Given the description of an element on the screen output the (x, y) to click on. 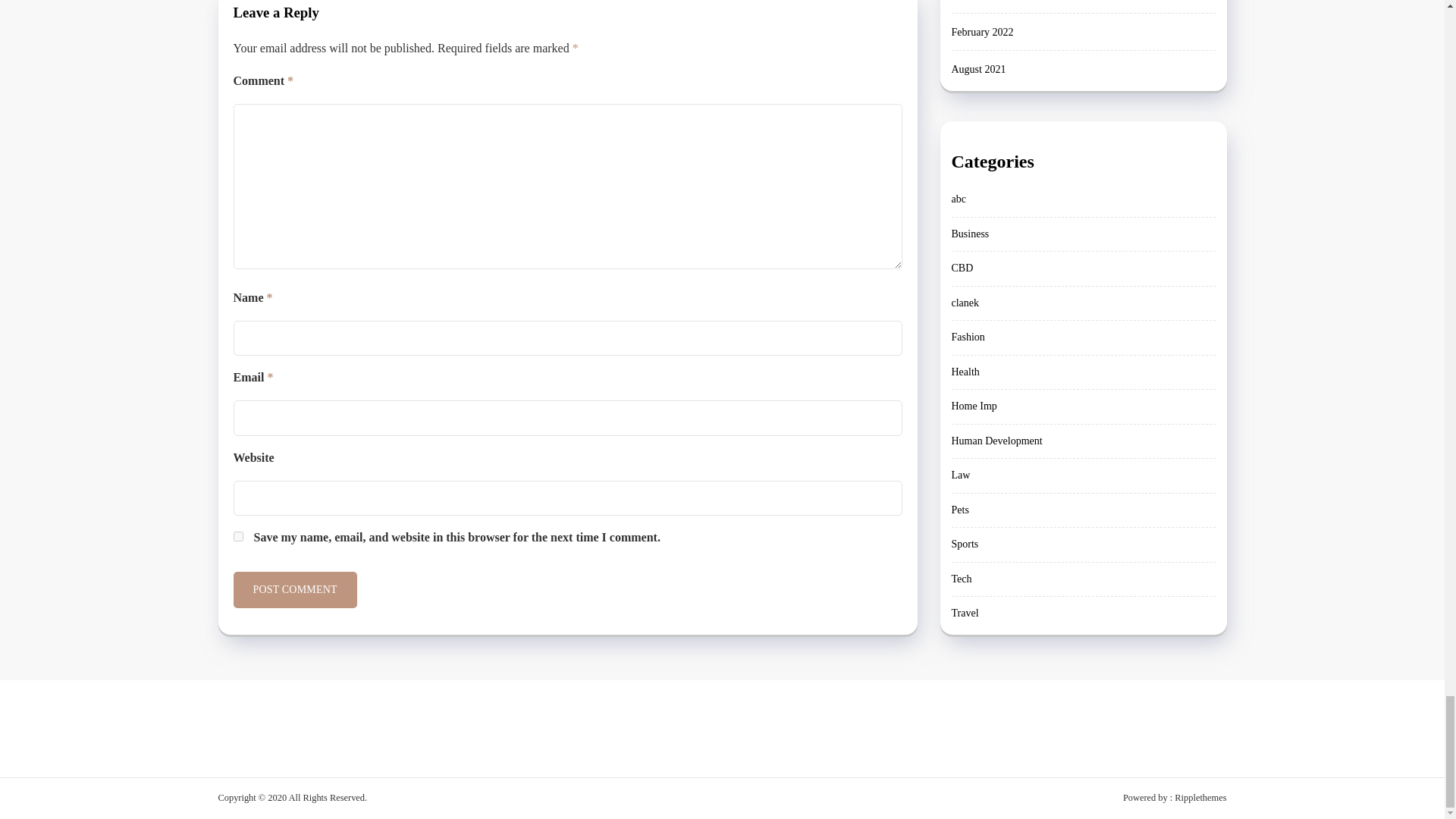
Post Comment (294, 589)
yes (237, 536)
